Given the description of an element on the screen output the (x, y) to click on. 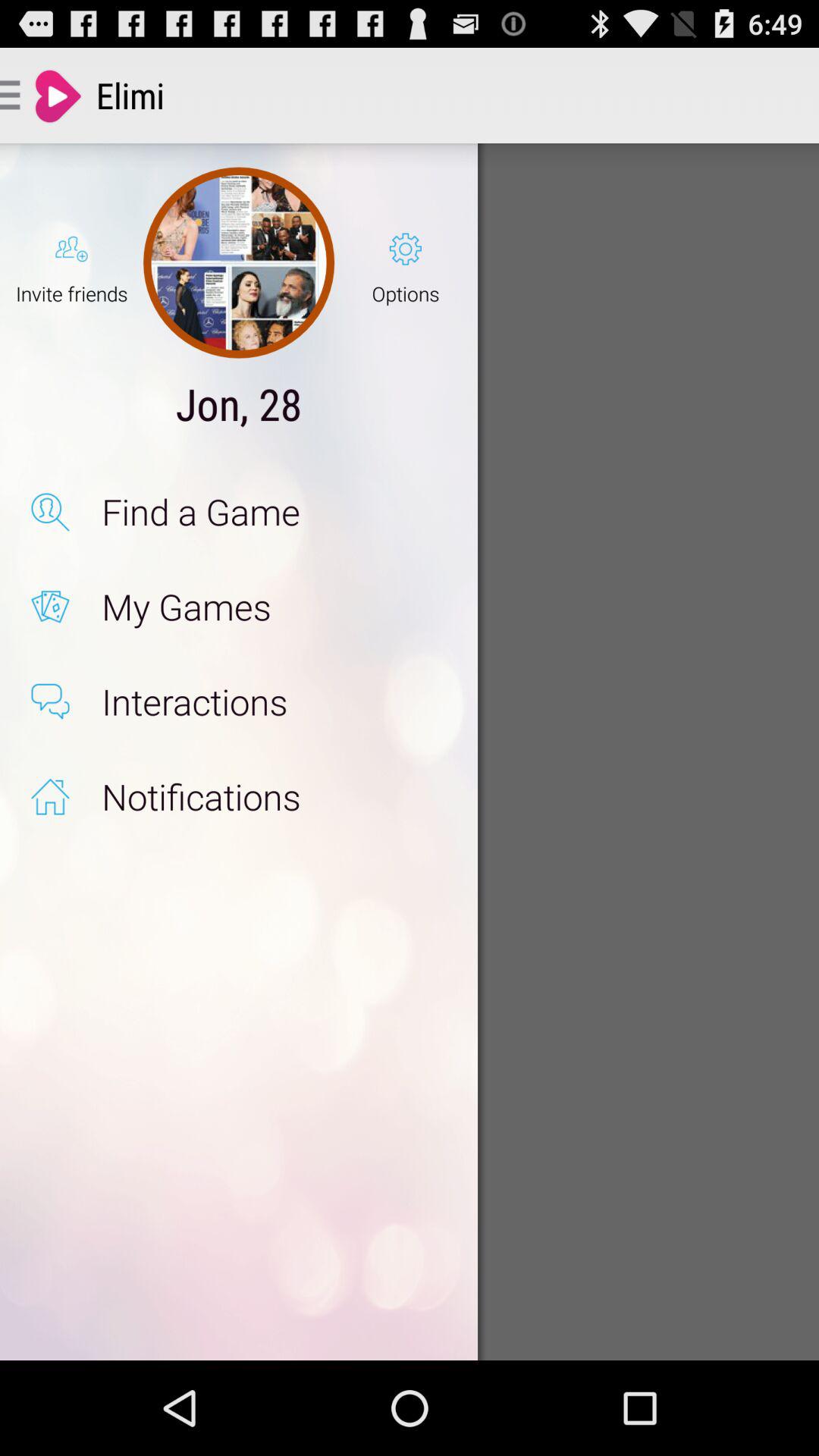
click button to the left of the options button (238, 262)
